Given the description of an element on the screen output the (x, y) to click on. 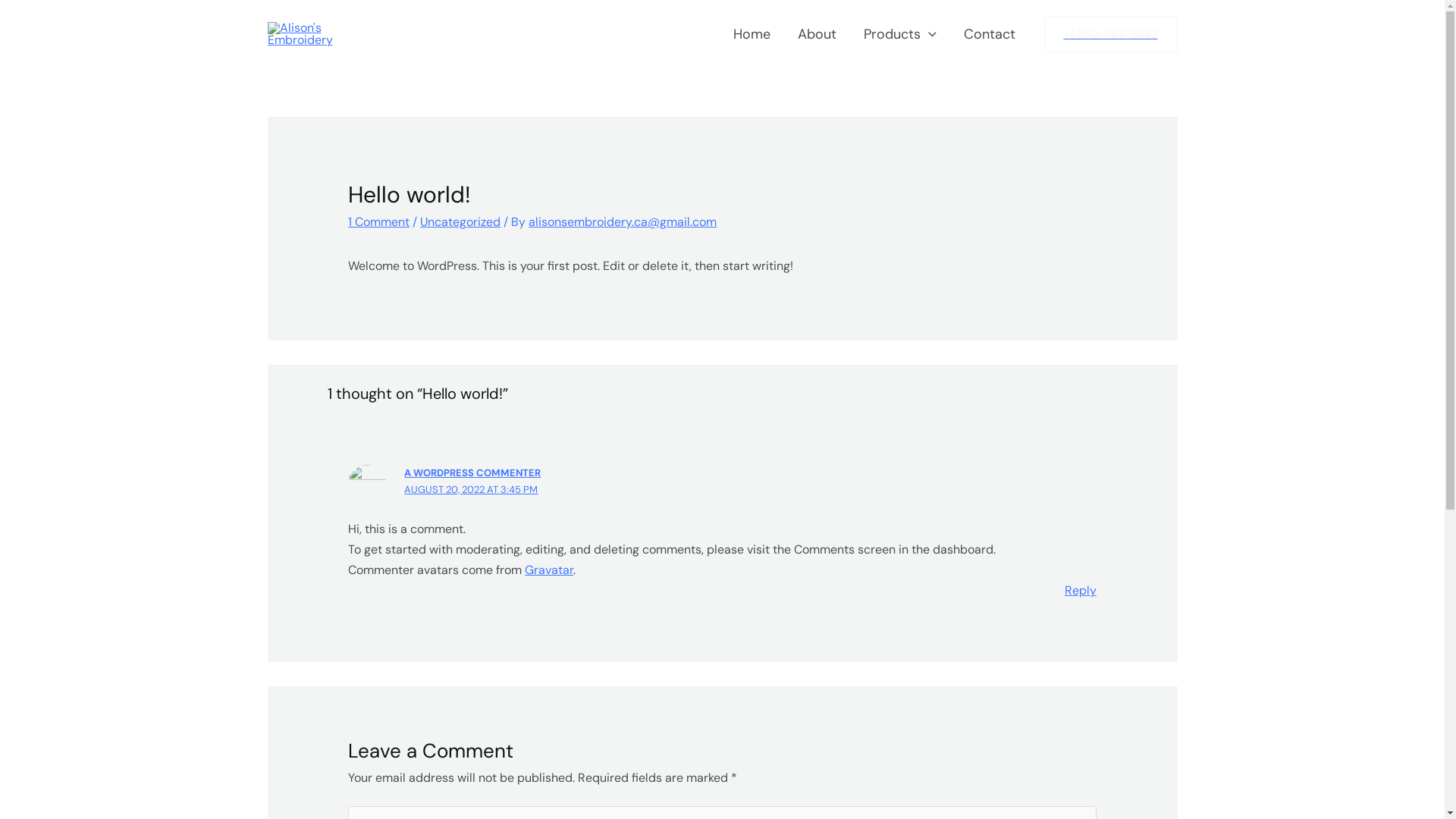
Products Element type: text (900, 33)
Contact Element type: text (988, 33)
About Element type: text (817, 33)
1 Comment Element type: text (378, 221)
Uncategorized Element type: text (460, 221)
+1 250-564-6682 Element type: text (1109, 34)
Home Element type: text (751, 33)
A WORDPRESS COMMENTER Element type: text (472, 472)
Gravatar Element type: text (548, 569)
alisonsembroidery.ca@gmail.com Element type: text (622, 221)
Reply Element type: text (1080, 590)
AUGUST 20, 2022 AT 3:45 PM Element type: text (470, 489)
